Given the description of an element on the screen output the (x, y) to click on. 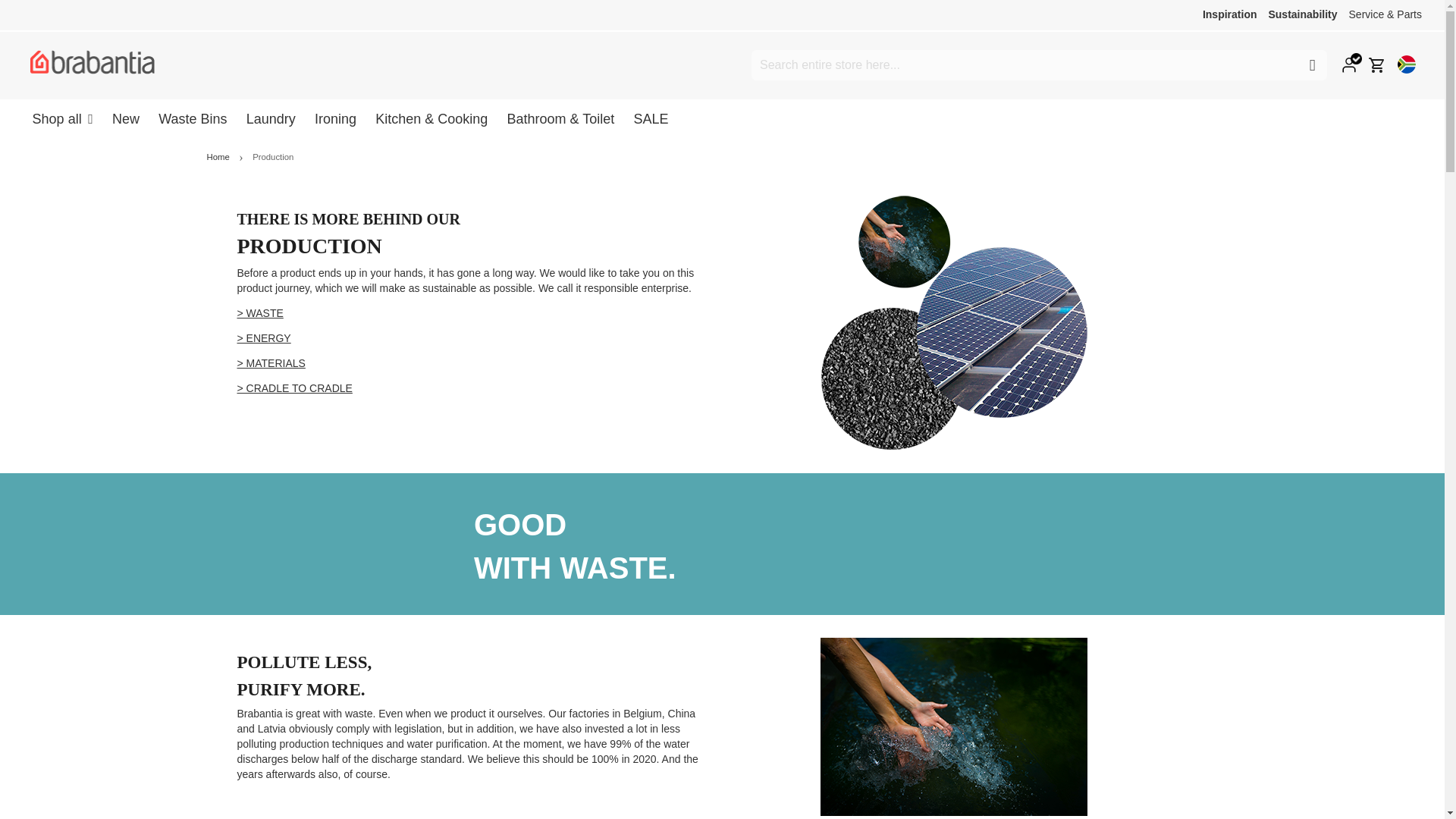
Inspiration (1229, 14)
waste (258, 313)
Go to Home Page (218, 156)
Sustainability (1302, 14)
My Cart (1377, 64)
Shop all (62, 118)
